Given the description of an element on the screen output the (x, y) to click on. 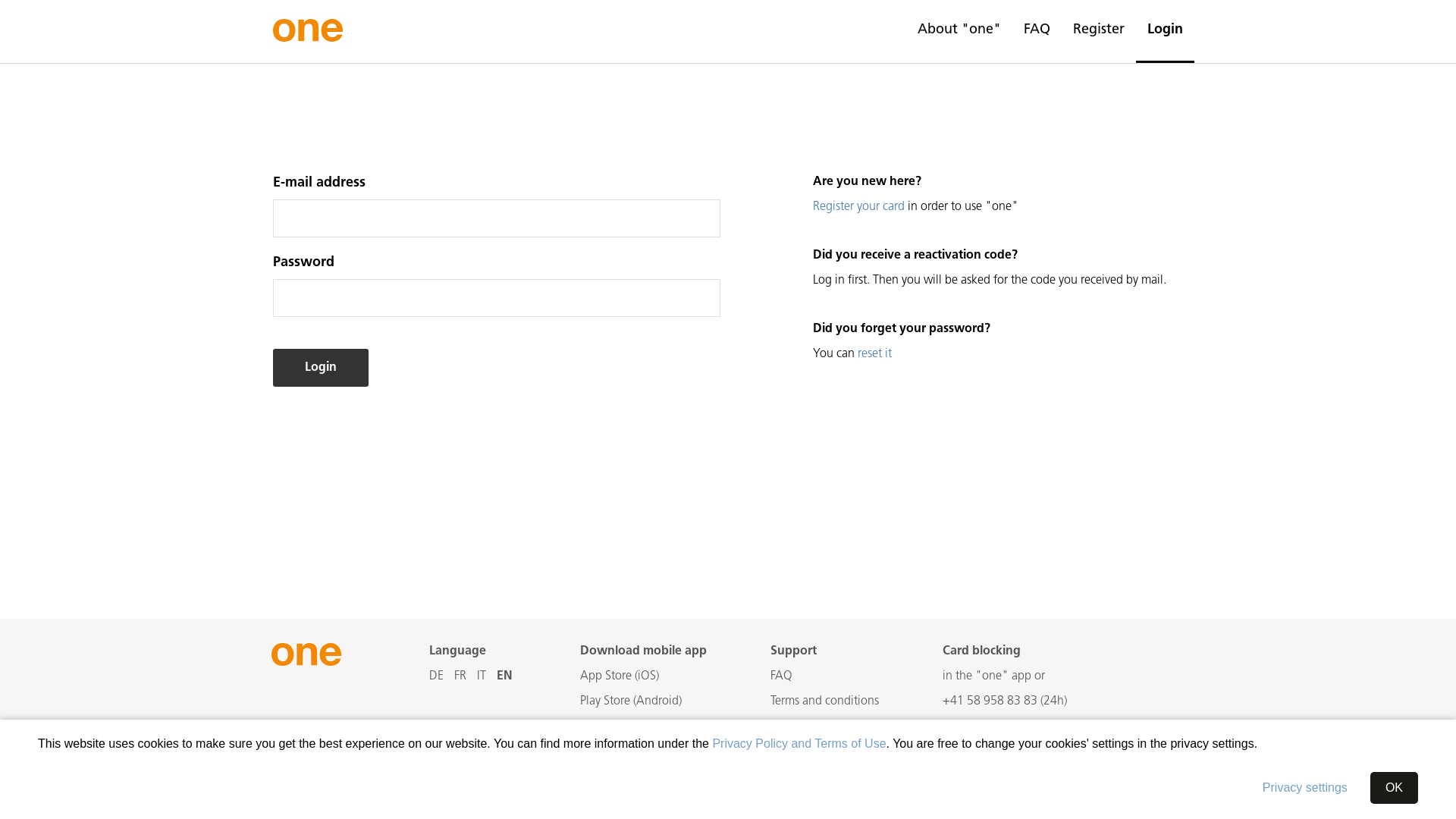
Privacy Policy and Terms of Use Element type: text (798, 743)
+41 58 958 83 83 Element type: text (989, 701)
App Store (iOS) Element type: text (619, 676)
Register your card Element type: text (858, 206)
Terms and conditions Element type: text (824, 701)
FR Element type: text (460, 676)
OK Element type: text (1394, 787)
Play Store (Android) Element type: text (630, 701)
EN Element type: text (504, 676)
About "one" Element type: text (959, 30)
DE Element type: text (436, 676)
Imprint Element type: text (788, 726)
Login Element type: text (1164, 30)
Privacy settings Element type: text (1304, 787)
Login Element type: text (320, 367)
reset it Element type: text (874, 353)
Register Element type: text (1098, 30)
FAQ Element type: text (1036, 30)
IT Element type: text (481, 676)
FAQ Element type: text (781, 676)
